Given the description of an element on the screen output the (x, y) to click on. 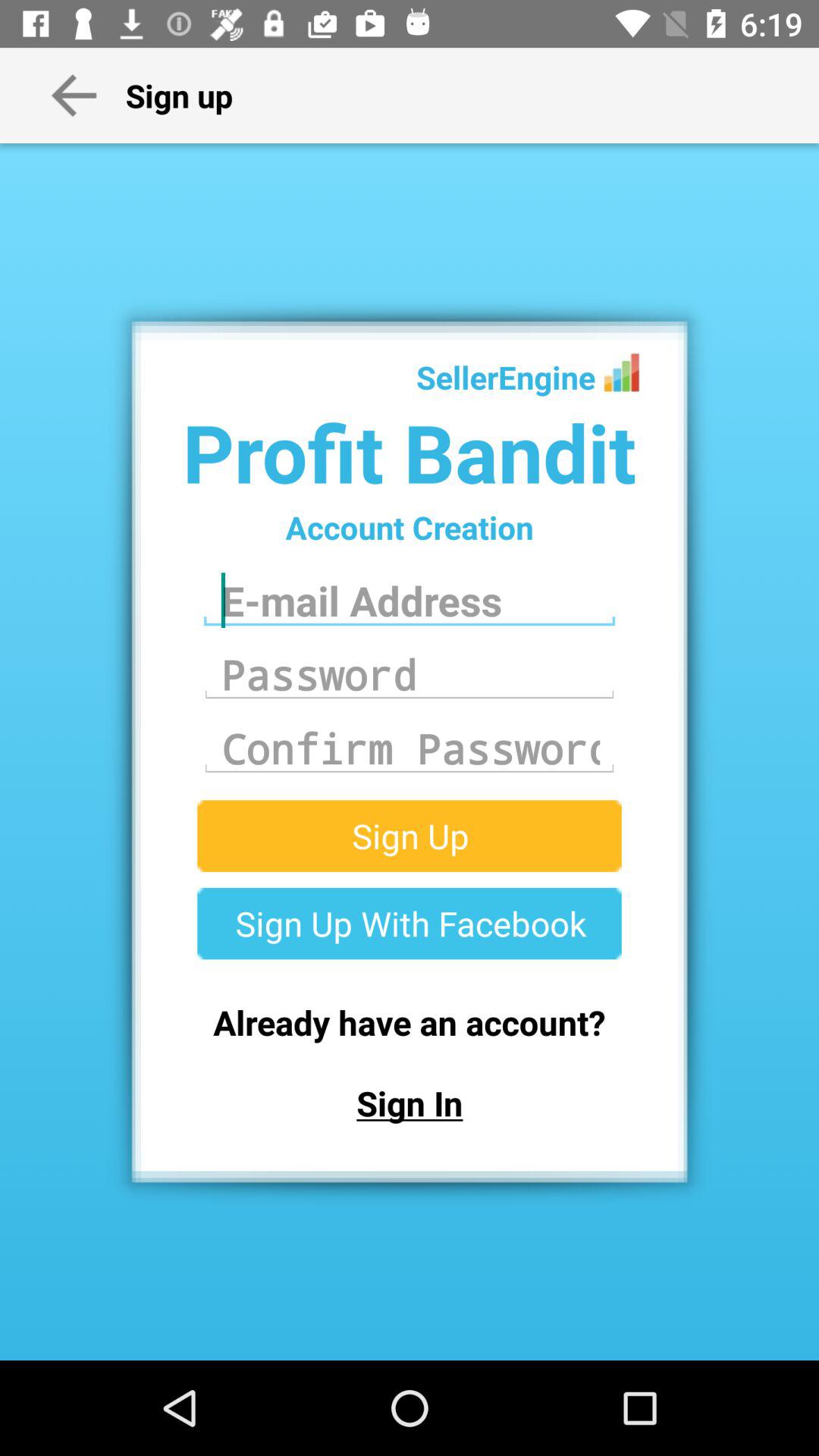
turn on the app next to sign up (73, 95)
